Given the description of an element on the screen output the (x, y) to click on. 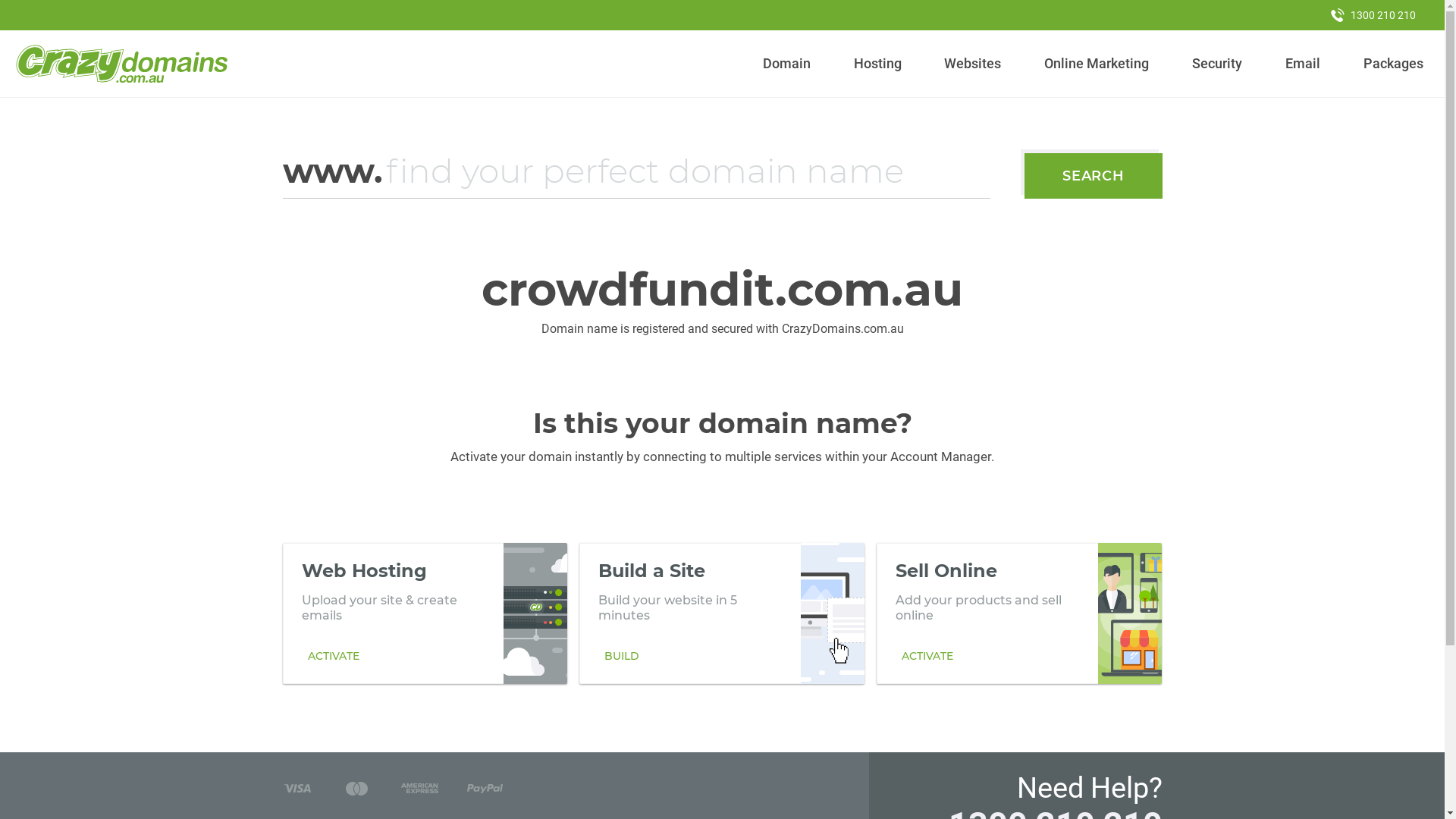
Websites Element type: text (972, 63)
Build a Site
Build your website in 5 minutes
BUILD Element type: text (721, 613)
Domain Element type: text (786, 63)
Hosting Element type: text (877, 63)
Online Marketing Element type: text (1096, 63)
Security Element type: text (1217, 63)
Web Hosting
Upload your site & create emails
ACTIVATE Element type: text (424, 613)
Packages Element type: text (1392, 63)
Email Element type: text (1302, 63)
Sell Online
Add your products and sell online
ACTIVATE Element type: text (1018, 613)
1300 210 210 Element type: text (1373, 15)
SEARCH Element type: text (1092, 175)
